Given the description of an element on the screen output the (x, y) to click on. 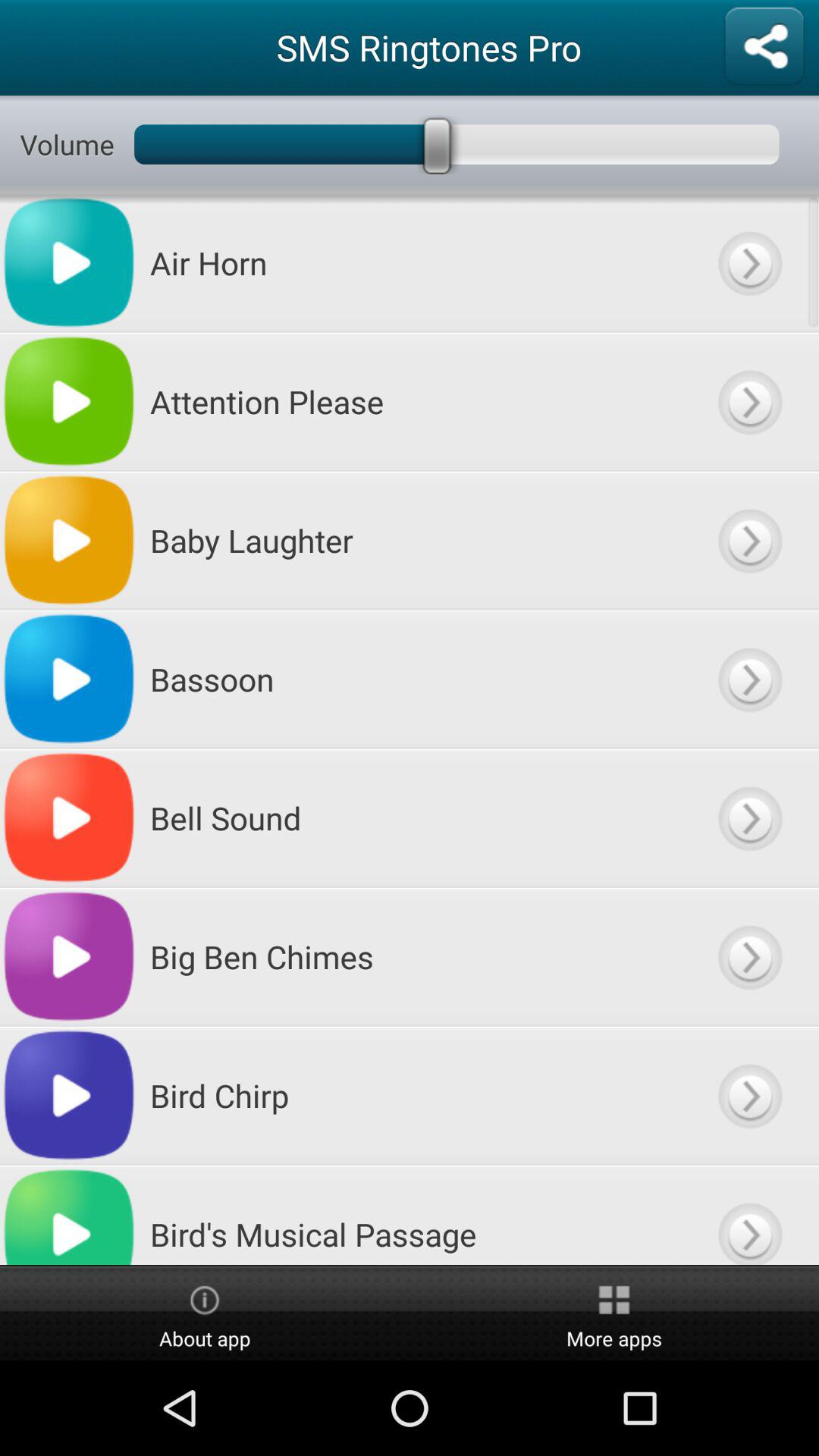
view download options (749, 679)
